Given the description of an element on the screen output the (x, y) to click on. 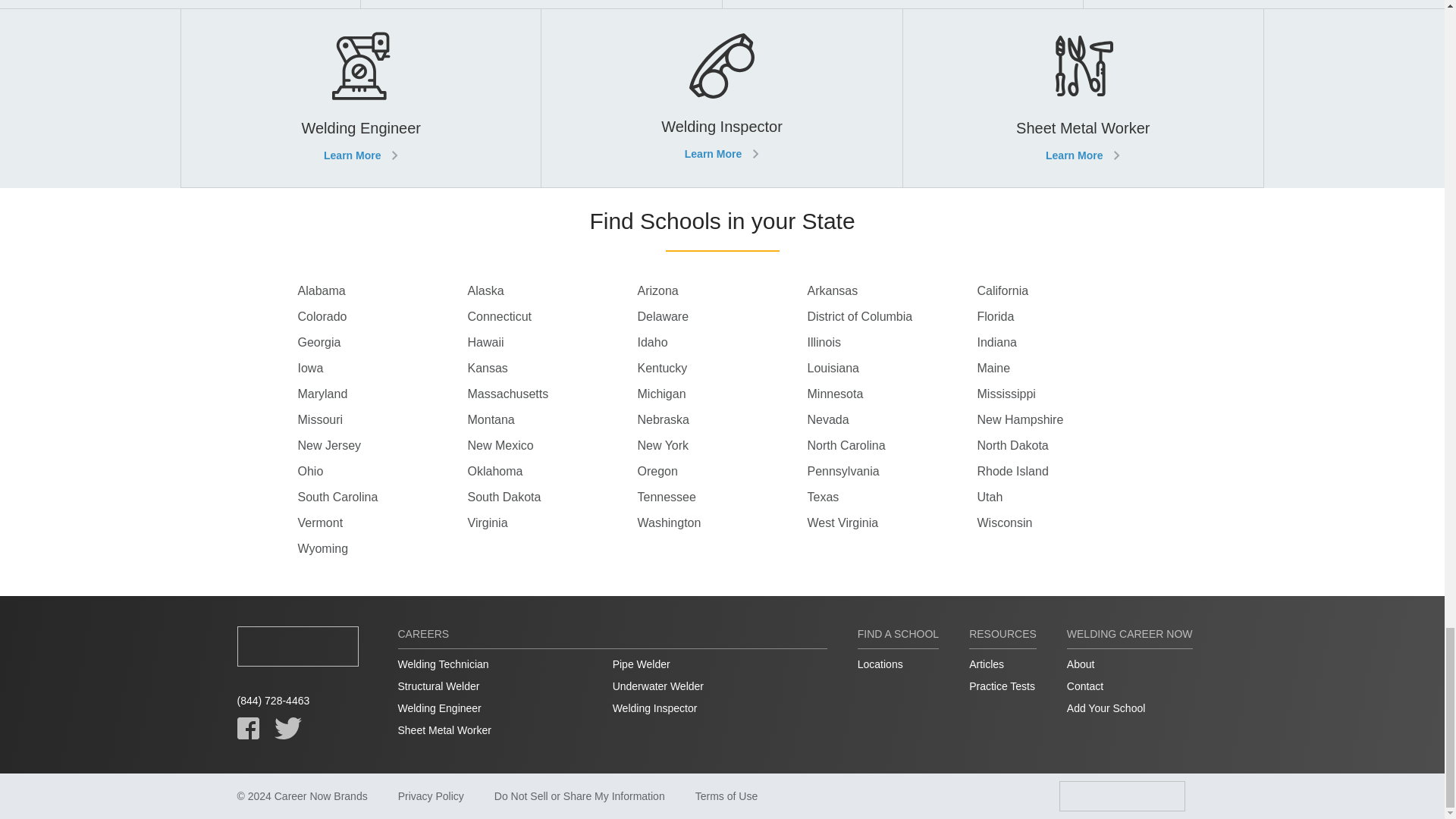
California (1061, 290)
Alabama (382, 290)
Arkansas (891, 290)
Alaska (552, 290)
Arizona (721, 290)
